Given the description of an element on the screen output the (x, y) to click on. 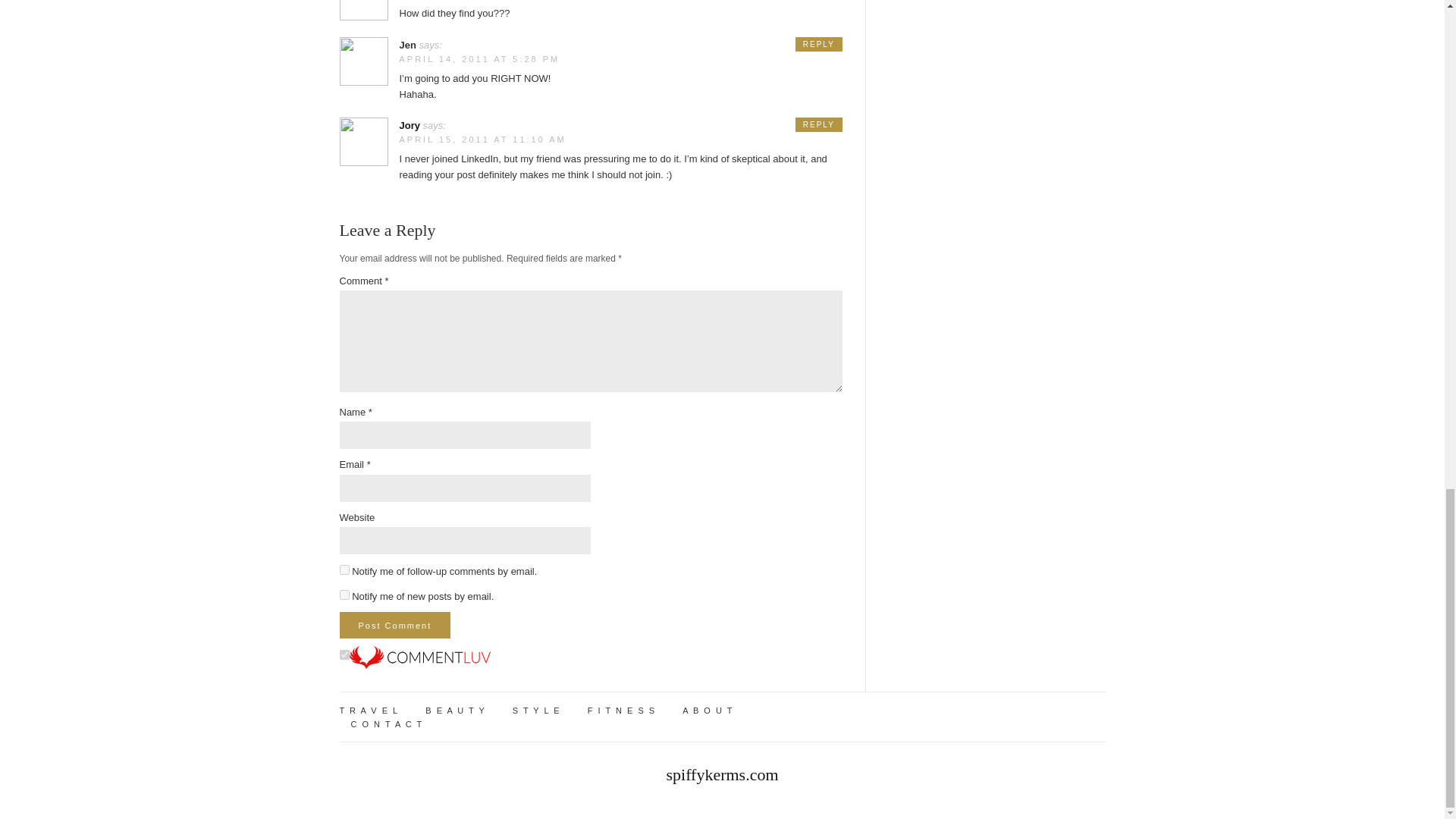
subscribe (344, 594)
subscribe (344, 569)
Post Comment (395, 624)
APRIL 14, 2011 AT 5:28 PM (478, 58)
on (344, 655)
